Given the description of an element on the screen output the (x, y) to click on. 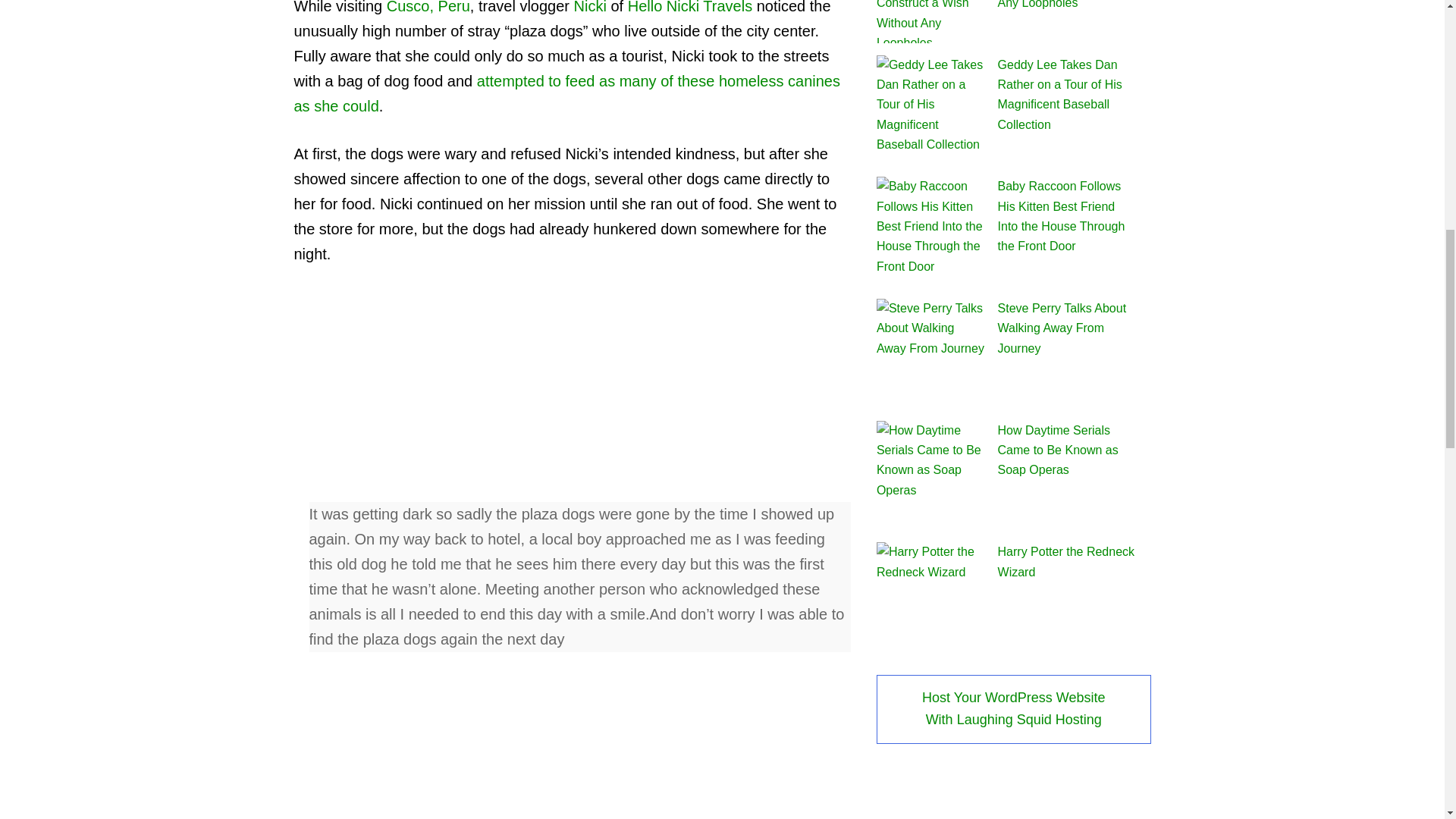
Steve Perry Talks About Walking Away From Journey (1061, 328)
Nicki (590, 7)
Hello Nicki Travels (689, 7)
Cusco, Peru (428, 7)
How Daytime Serials Came to Be Known as Soap Operas (1057, 449)
